Given the description of an element on the screen output the (x, y) to click on. 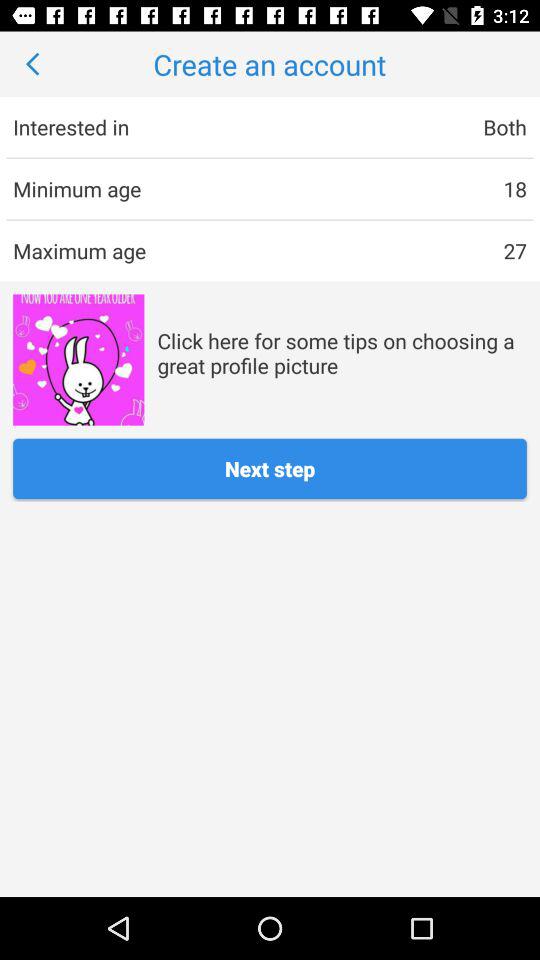
tap next step (269, 468)
